Given the description of an element on the screen output the (x, y) to click on. 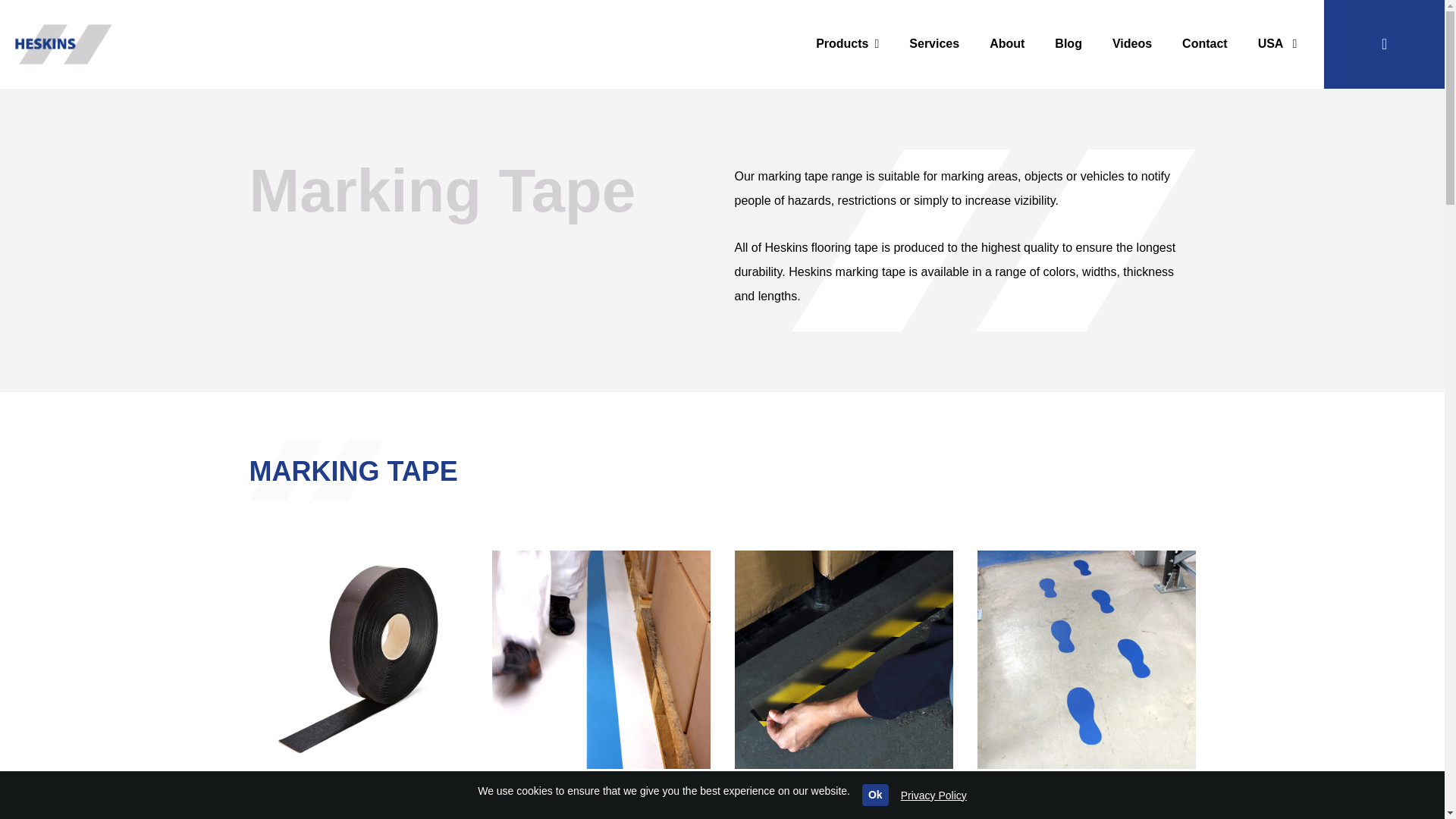
Products (846, 43)
About (1006, 43)
USA (1278, 43)
PermaTop (842, 659)
Services (933, 43)
Blog (1068, 43)
Contact (1205, 43)
Videos (1132, 43)
PermaTop (842, 794)
